Given the description of an element on the screen output the (x, y) to click on. 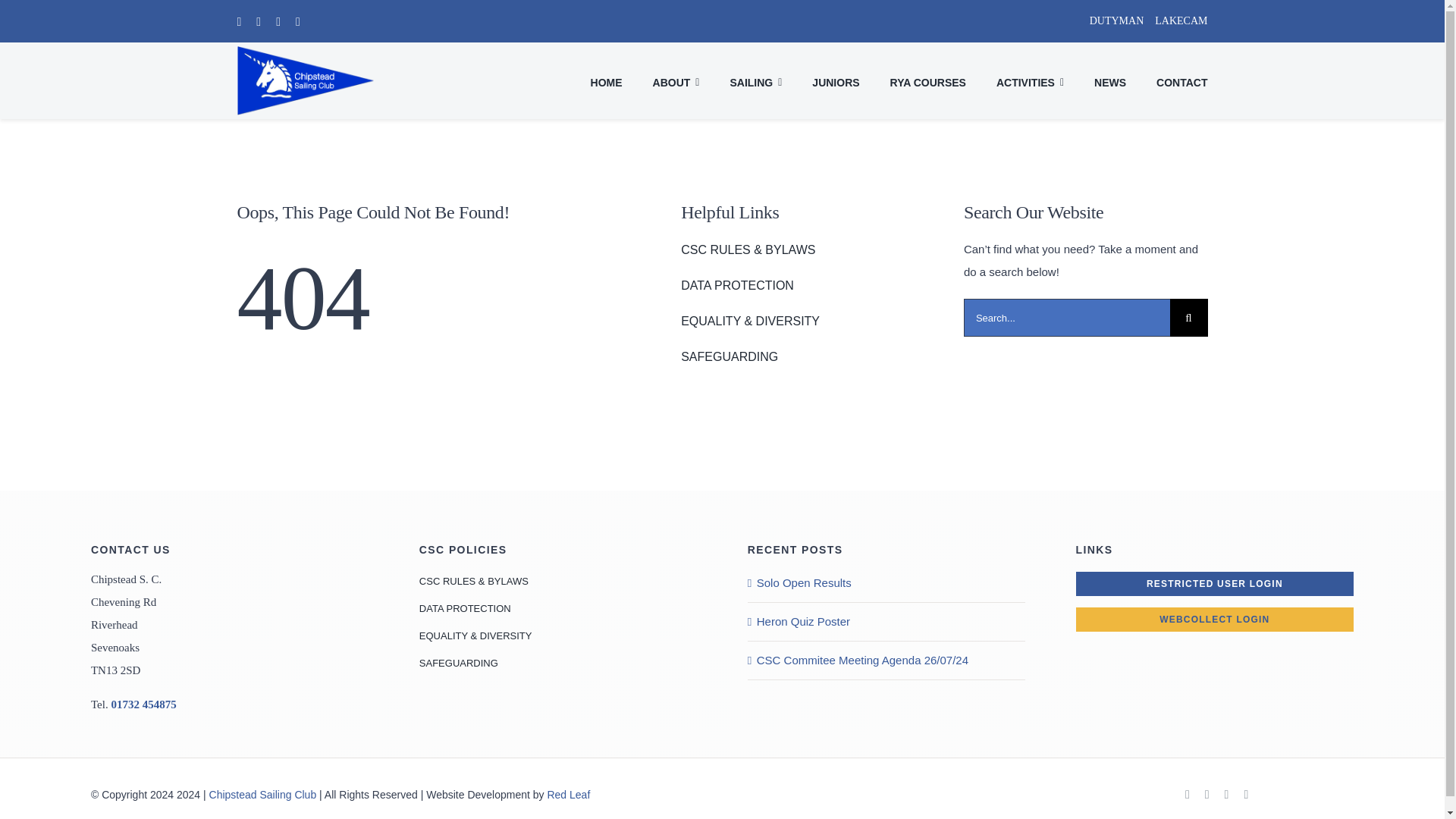
LAKECAM (1180, 21)
DUTYMAN (1110, 21)
ABOUT (676, 79)
SAILING (755, 79)
